Given the description of an element on the screen output the (x, y) to click on. 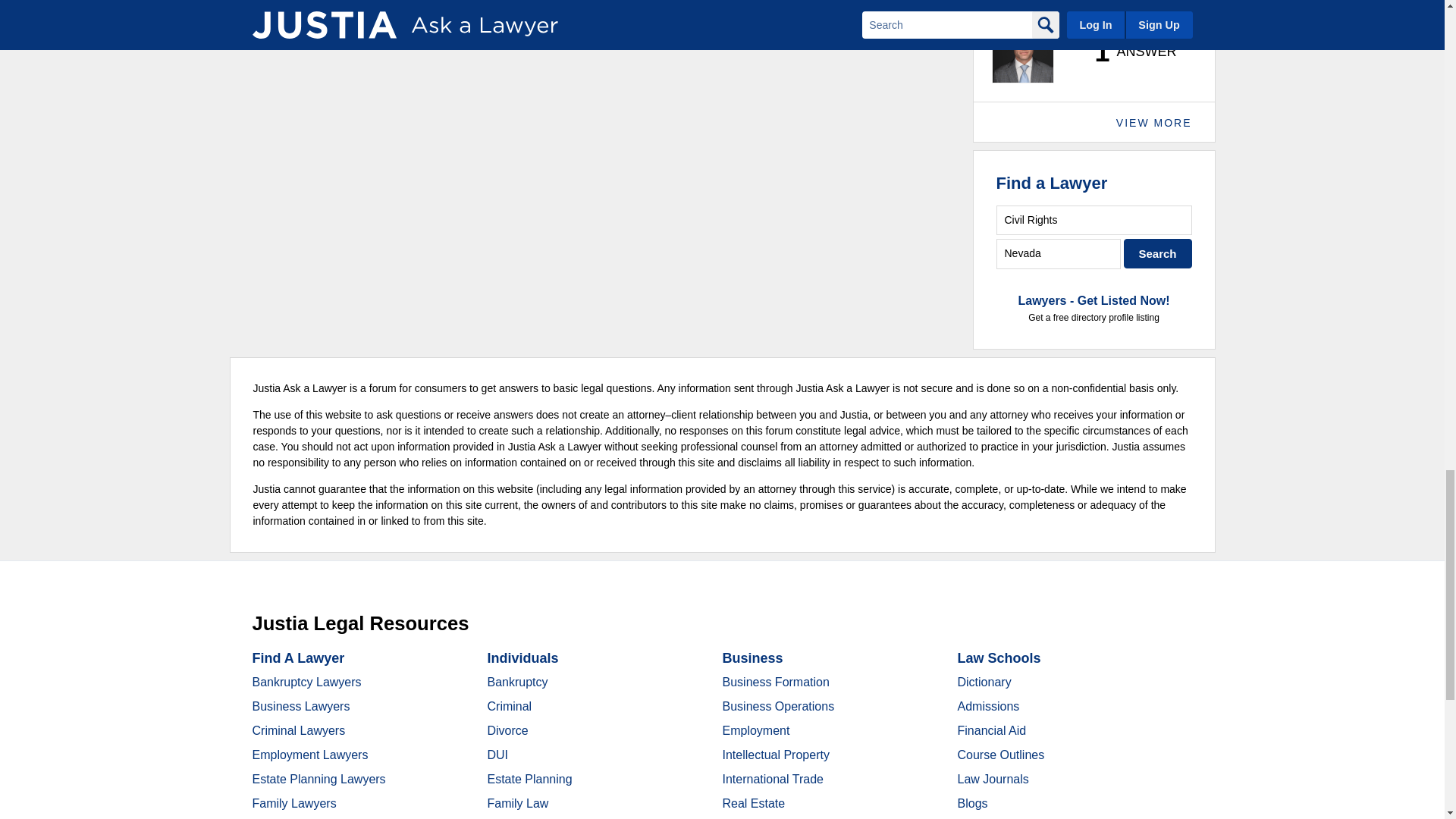
Ask a Lawyer - Leaderboard - Lawyer Stats (1127, 52)
Legal Issue or Lawyer Name (1093, 220)
Nevada (1058, 253)
City, State (1058, 253)
Search (1158, 253)
Ask a Lawyer - Leaderboard - Lawyer Photo (1021, 52)
Civil Rights (1093, 220)
Search (1158, 253)
Ask a Lawyer - Leaderboard - Lawyer Name (1038, 7)
